Given the description of an element on the screen output the (x, y) to click on. 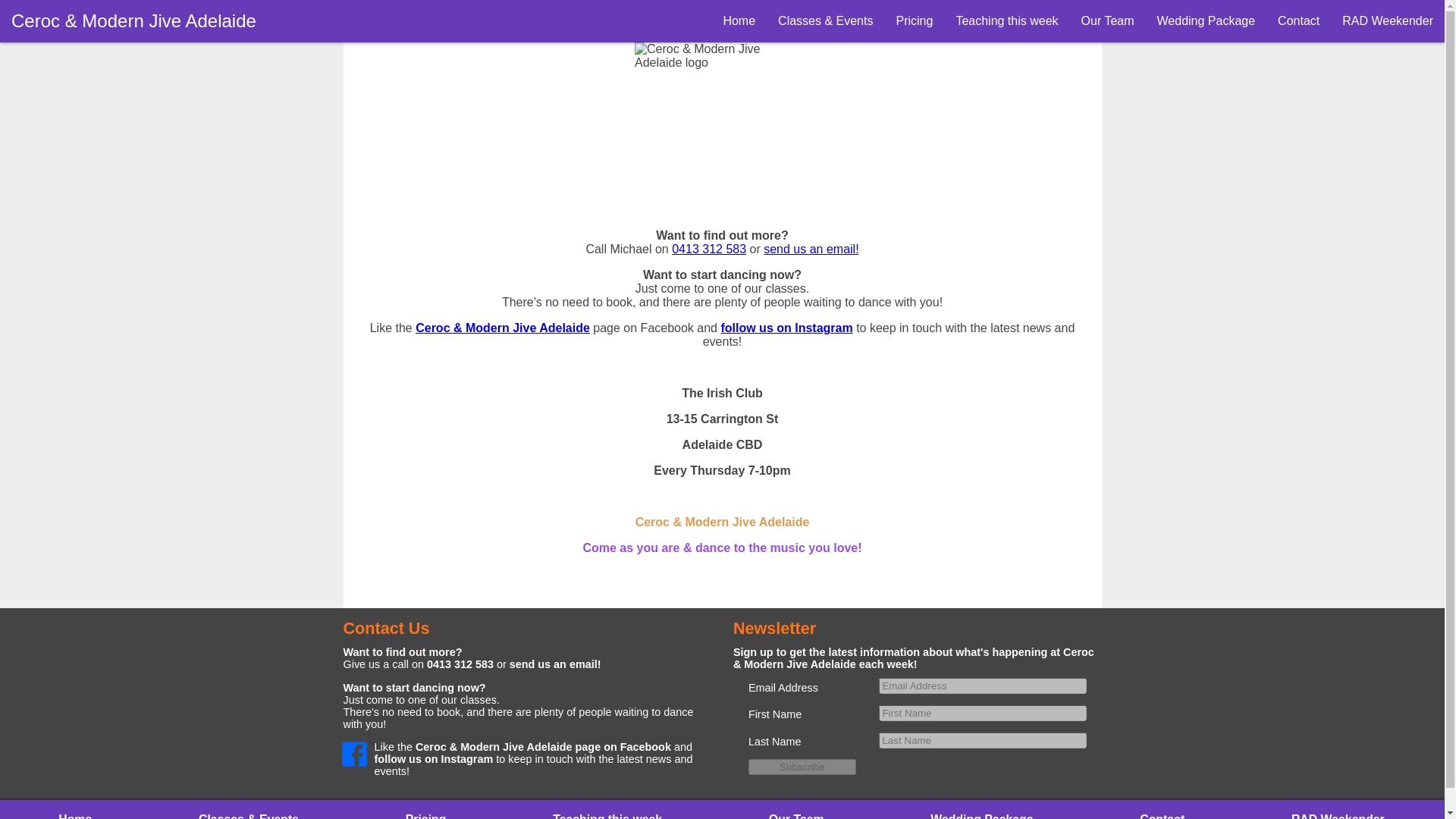
follow us on Instagram (785, 327)
Teaching this week (607, 815)
Subscribe (802, 766)
Home (74, 815)
Contact (1298, 21)
Pricing (425, 815)
Home (739, 21)
Teaching this week (1005, 21)
follow us on Instagram (433, 758)
send us an email! (555, 664)
Contact (1161, 815)
Subscribe (802, 766)
Our Team (1107, 21)
RAD Weekender (1337, 815)
Wedding Package (1205, 21)
